Given the description of an element on the screen output the (x, y) to click on. 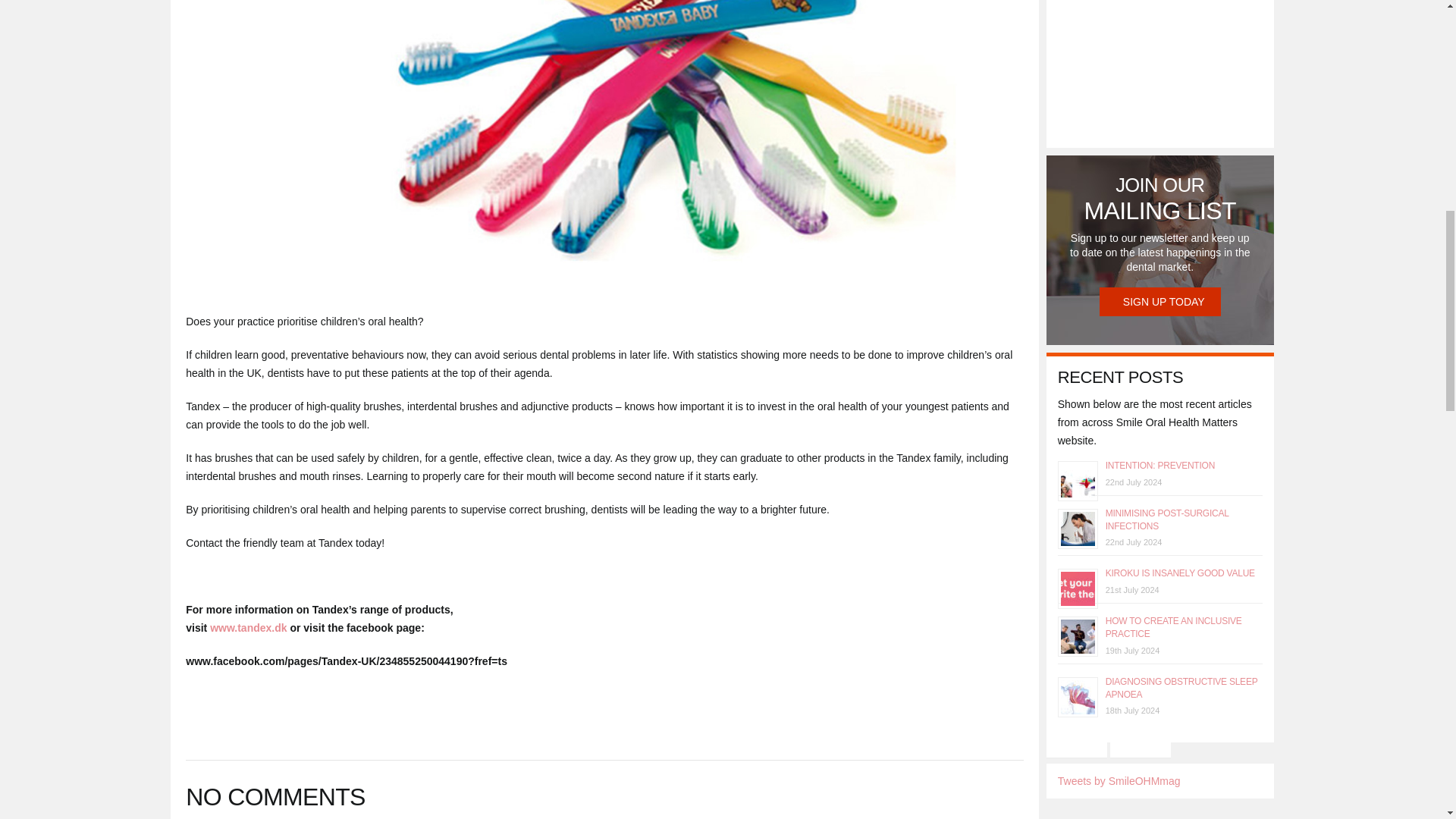
www.tandex.dk (247, 627)
INTENTION: PREVENTION (1159, 465)
KIROKU IS INSANELY GOOD VALUE (1180, 573)
SIGN UP TODAY (1160, 301)
MINIMISING POST-SURGICAL INFECTIONS (1166, 519)
